Given the description of an element on the screen output the (x, y) to click on. 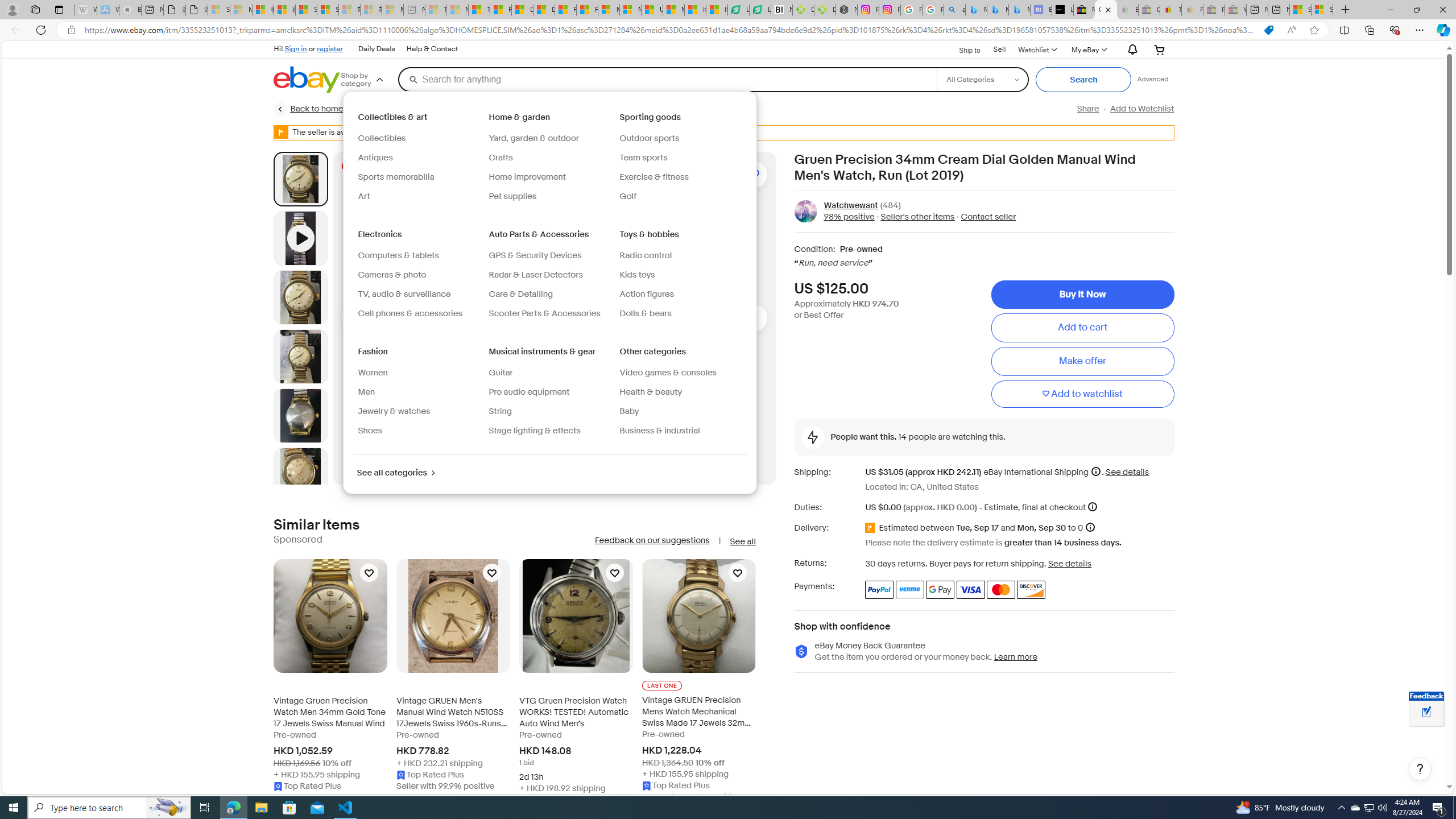
Health & beauty (679, 392)
Visa (970, 588)
Master Card (999, 588)
TV, audio & surveillance (404, 294)
Sports memorabilia (396, 176)
Video games & consoles (679, 372)
Picture 3 of 13 (300, 356)
Leave feedback about your eBay ViewItem experience (1426, 713)
Health & beauty (650, 392)
